Given the description of an element on the screen output the (x, y) to click on. 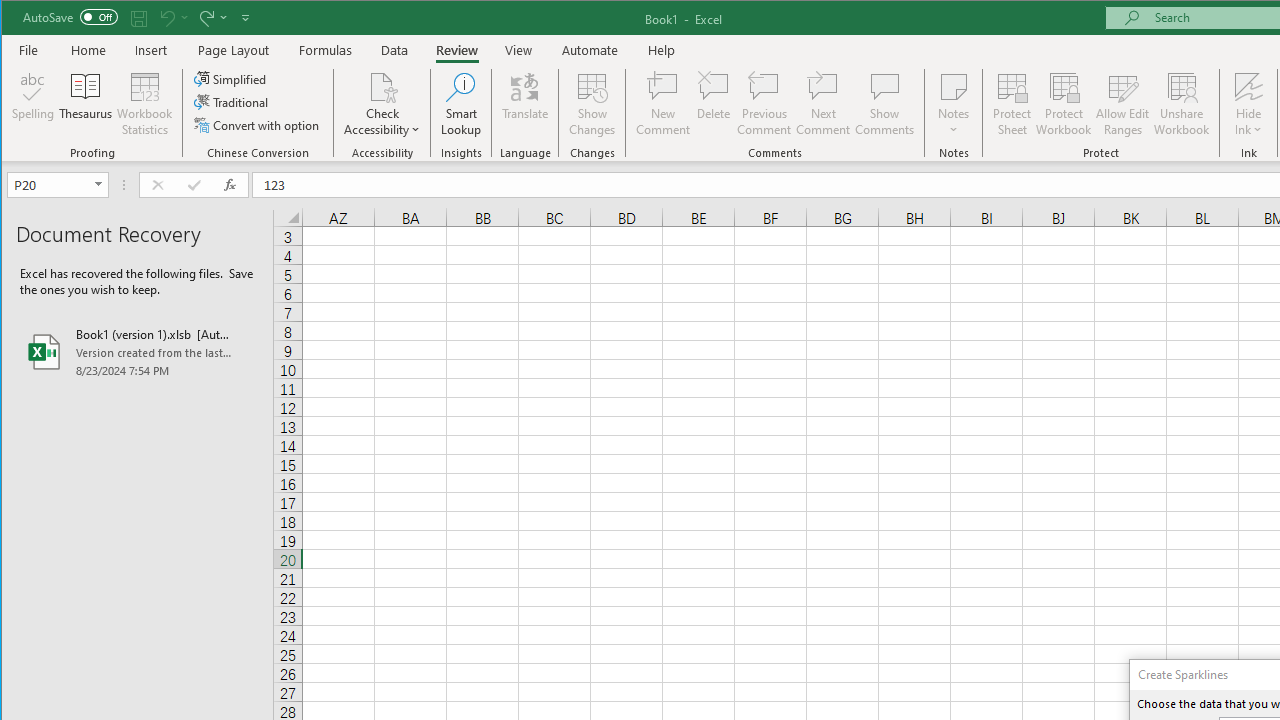
Help (661, 50)
Check Accessibility (381, 104)
File Tab (29, 49)
Simplified (231, 78)
AutoSave (70, 16)
Check Accessibility (381, 86)
Formulas (326, 50)
Spelling... (33, 104)
Workbook Statistics (145, 104)
